Given the description of an element on the screen output the (x, y) to click on. 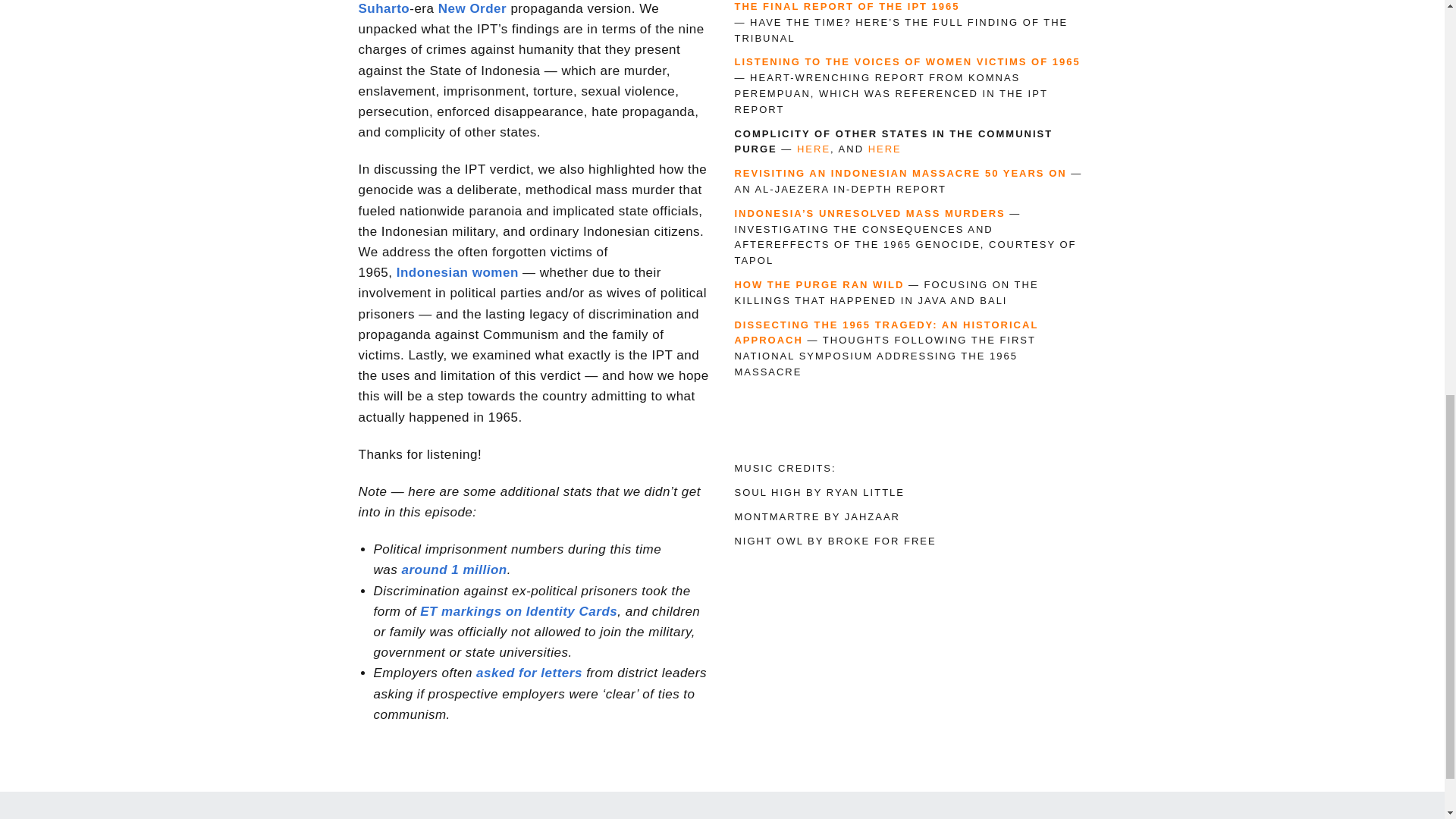
HOW THE PURGE RAN WILD (818, 284)
LISTENING TO THE VOICES OF WOMEN VICTIMS OF 1965 (906, 61)
Suharto (383, 8)
MONTMARTRE (776, 516)
RYAN LITTLE (865, 491)
New Order (474, 8)
HERE (884, 148)
TAPOL (753, 260)
ET markings on Identity Cards (518, 611)
Indonesian women (457, 272)
